Given the description of an element on the screen output the (x, y) to click on. 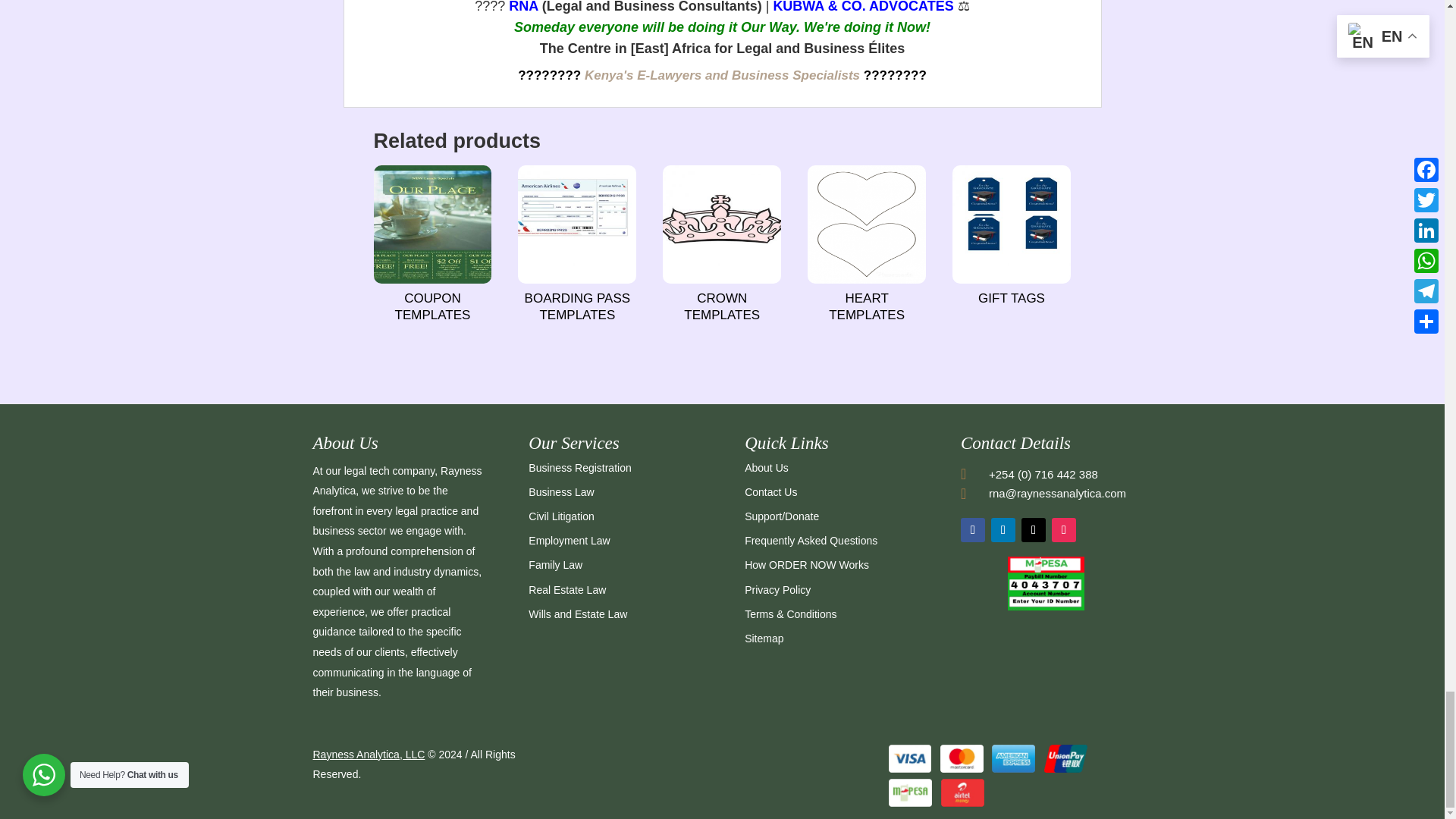
Follow on Facebook (972, 529)
Coupon-2.jpg - Rayness Analytica I Online Business Lawyers (432, 224)
Follow on LinkedIn (1002, 529)
